Given the description of an element on the screen output the (x, y) to click on. 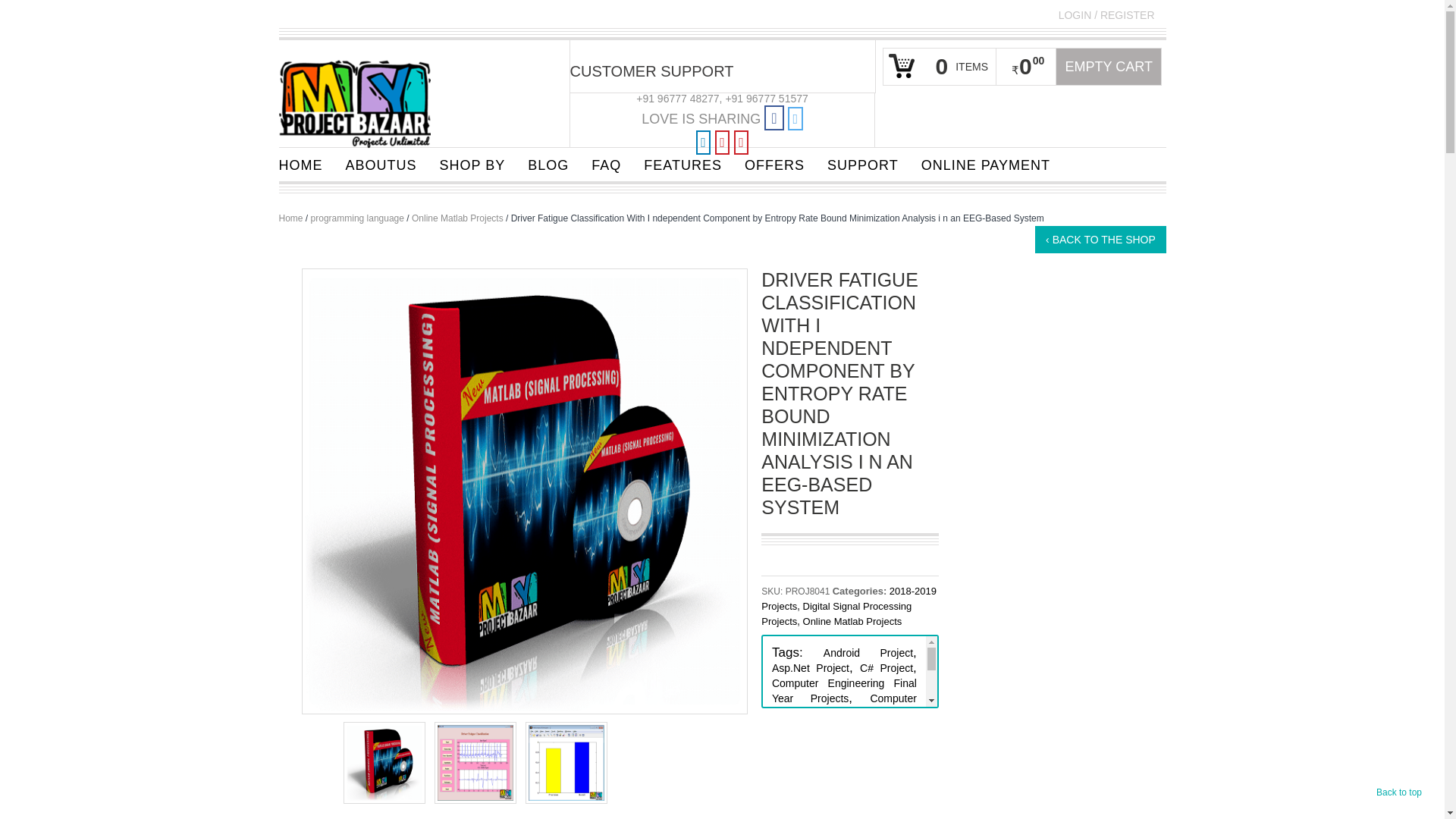
PROJ8041 (524, 490)
ABOUTUS (380, 163)
PROJ8041 (383, 762)
HOME (299, 163)
SHOP BY (472, 163)
EMPTY CART (1108, 66)
